Given the description of an element on the screen output the (x, y) to click on. 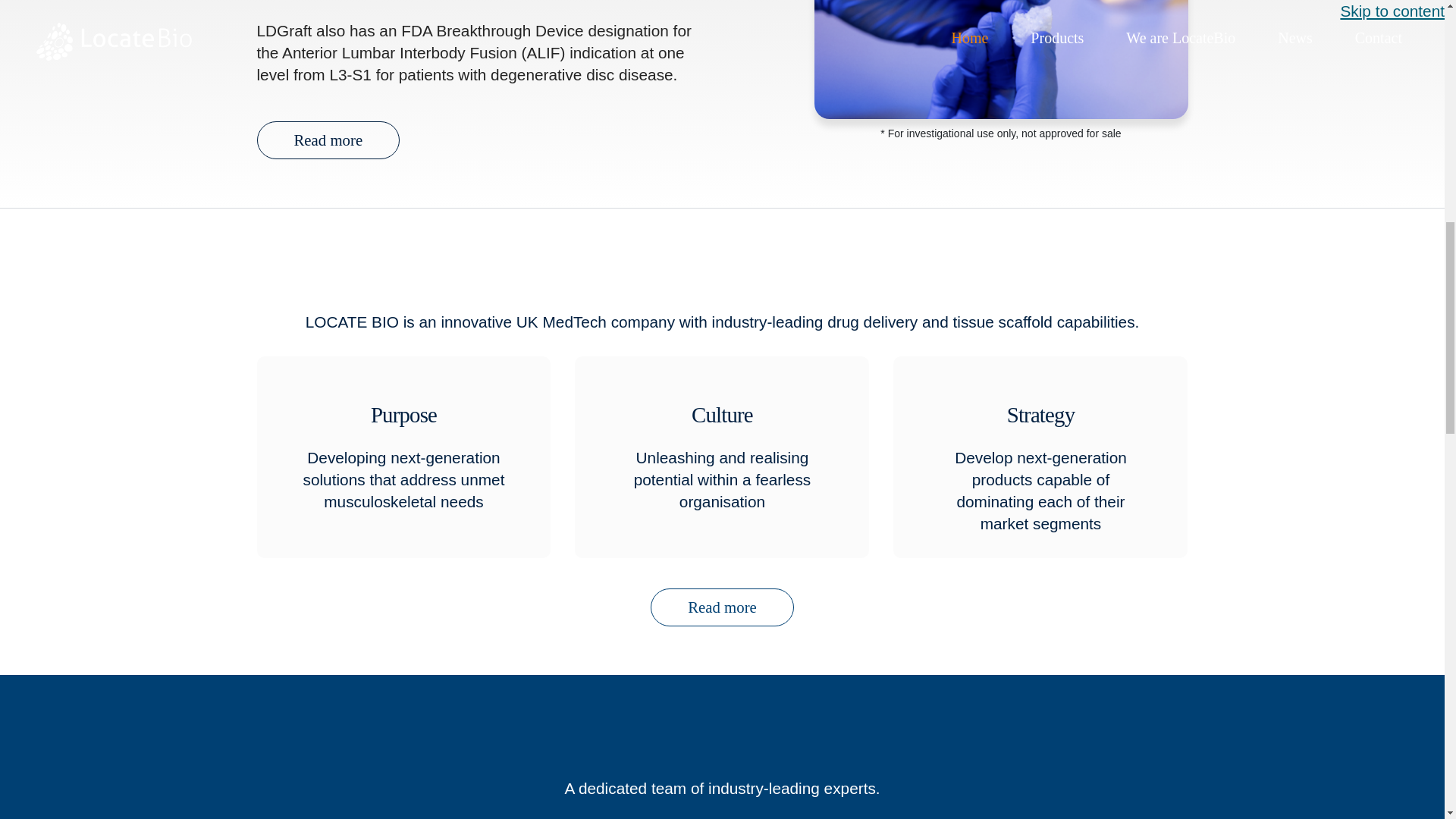
Read more (721, 607)
Read more (327, 139)
